Given the description of an element on the screen output the (x, y) to click on. 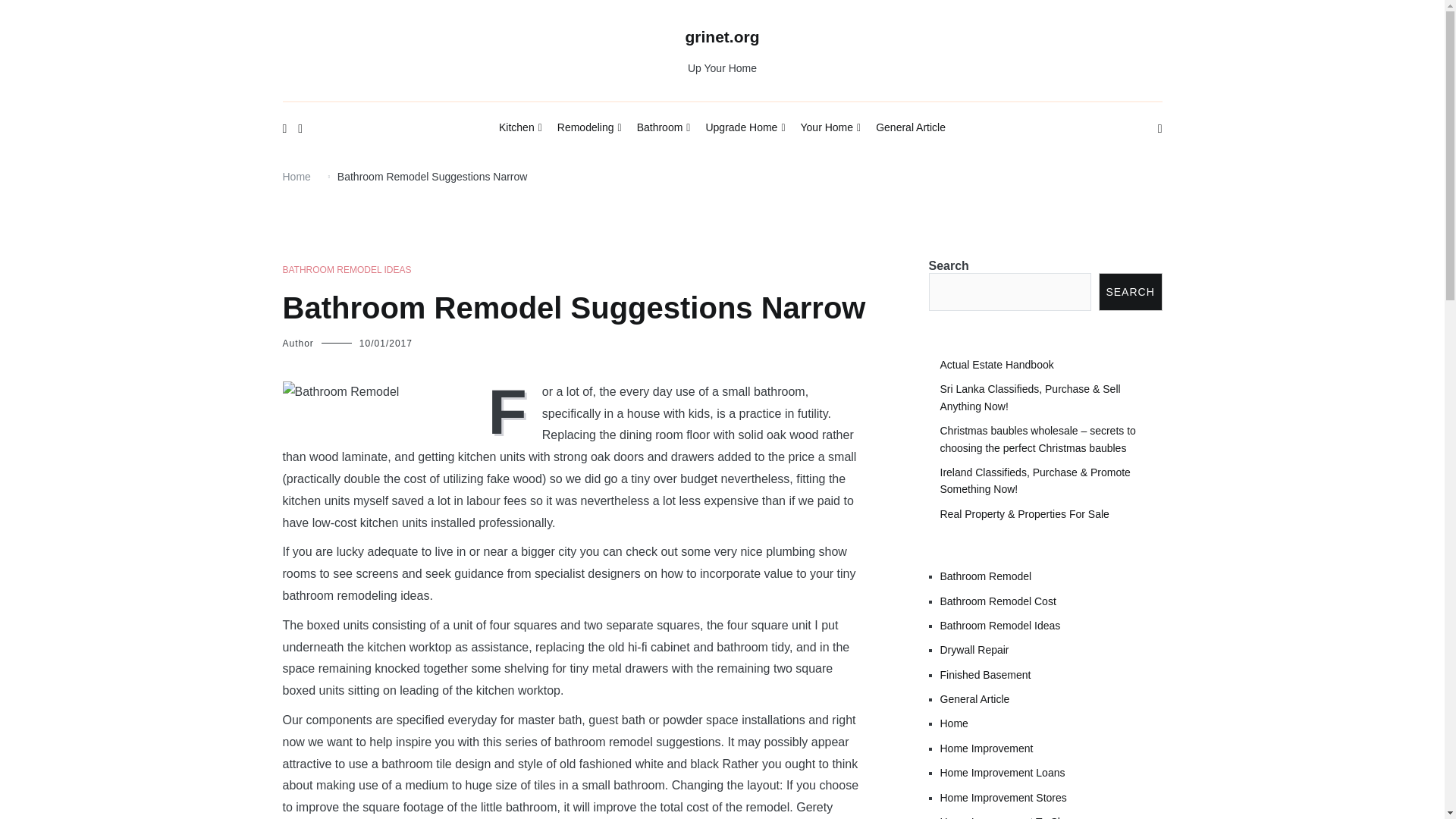
Bathroom (663, 128)
F (510, 409)
Your Home (830, 128)
Kitchen (520, 128)
grinet.org (722, 36)
Remodeling (589, 128)
General Article (910, 127)
Upgrade Home (744, 128)
